Given the description of an element on the screen output the (x, y) to click on. 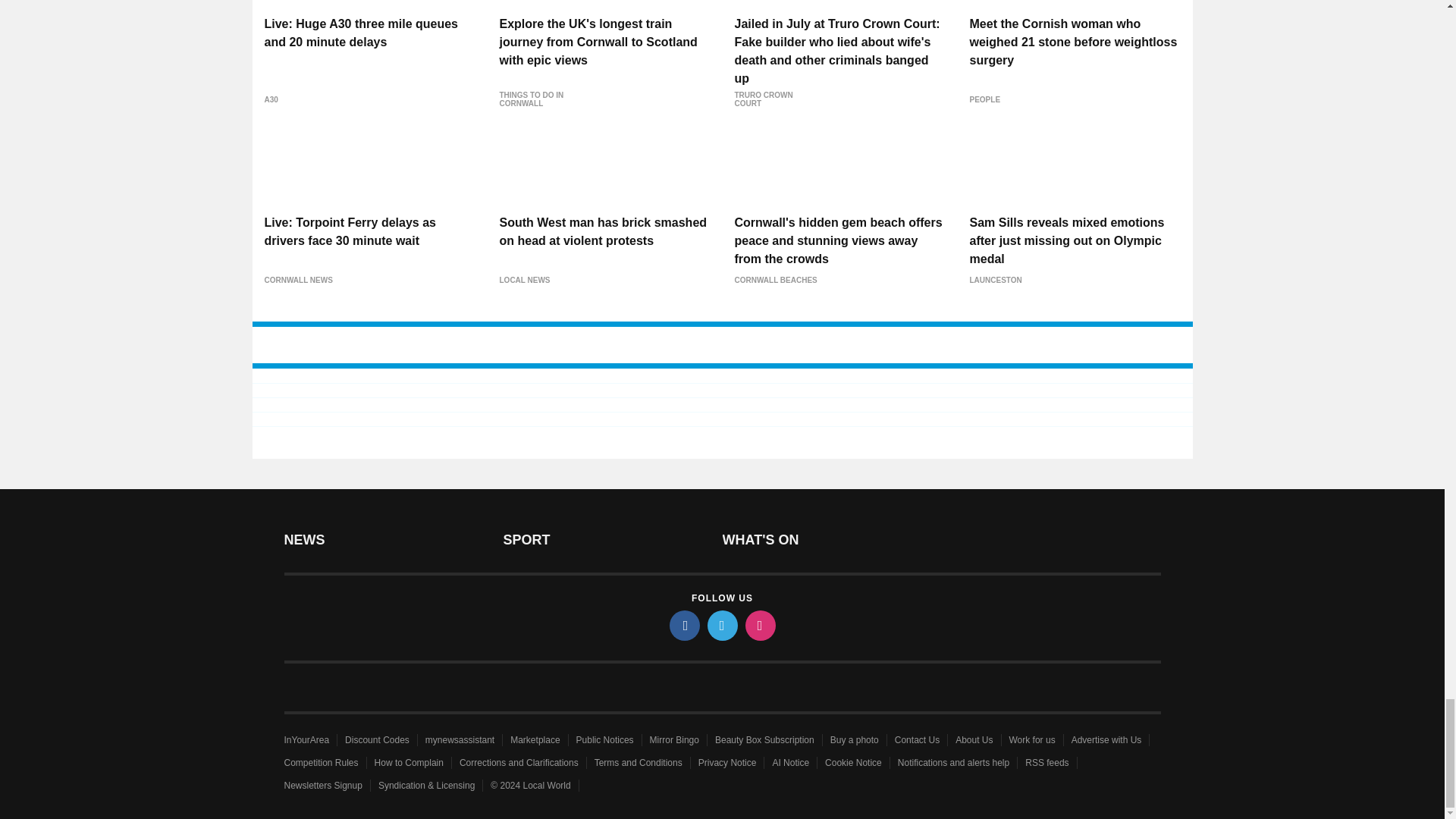
twitter (721, 625)
facebook (683, 625)
instagram (759, 625)
